Given the description of an element on the screen output the (x, y) to click on. 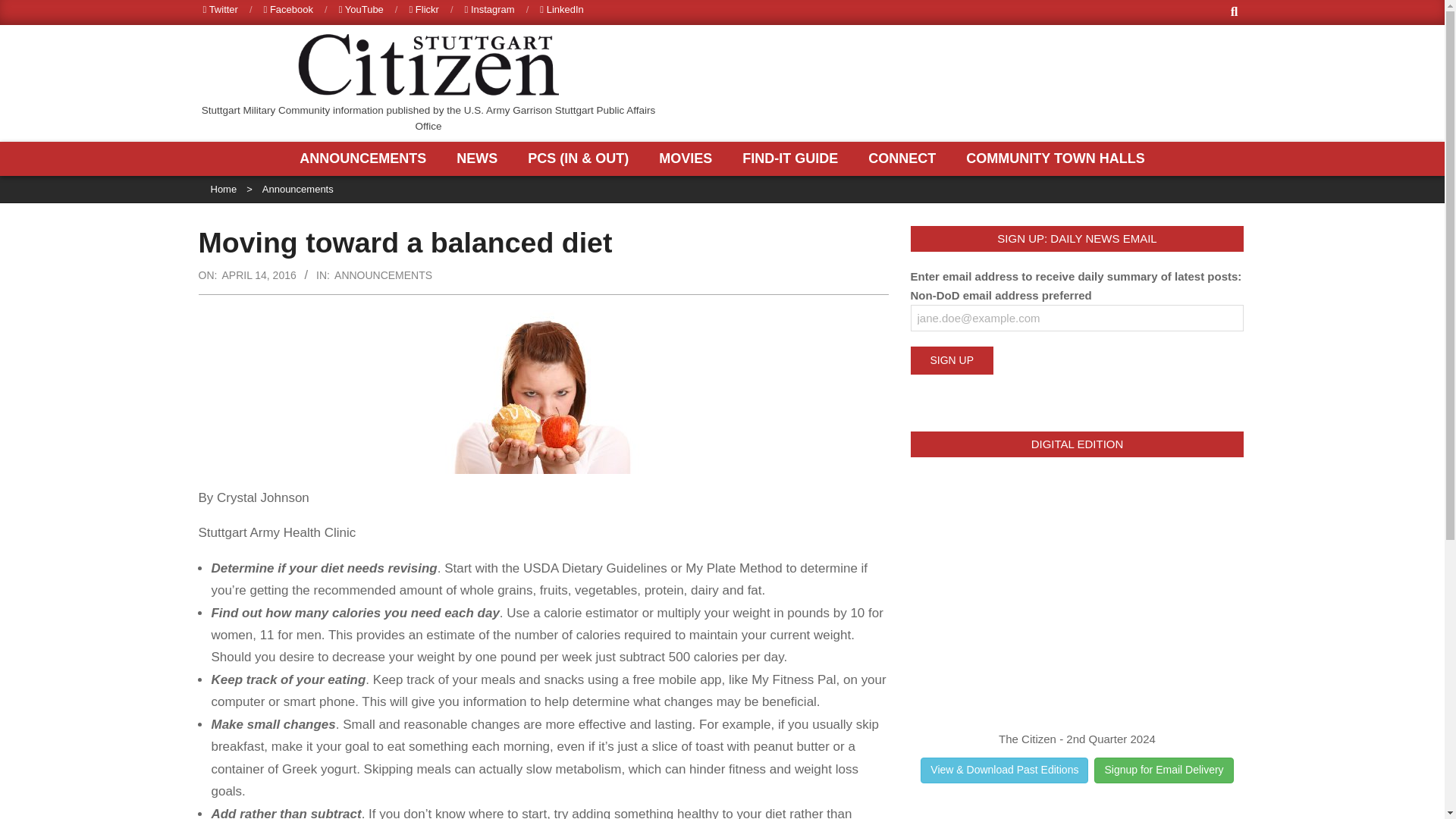
ANNOUNCEMENTS (366, 158)
Twitter (220, 9)
Sign up (951, 360)
Flickr (423, 9)
Search (24, 9)
Go to StuttgartCitizen.com. (224, 188)
CONNECT (906, 158)
Thursday, April 14, 2016, 7:35 am (258, 275)
Go to the Announcements Category archives. (297, 188)
Instagram (489, 9)
Facebook (288, 9)
FIND-IT GUIDE (793, 158)
LinkedIn (561, 9)
MOVIES (688, 158)
YouTube (361, 9)
